Given the description of an element on the screen output the (x, y) to click on. 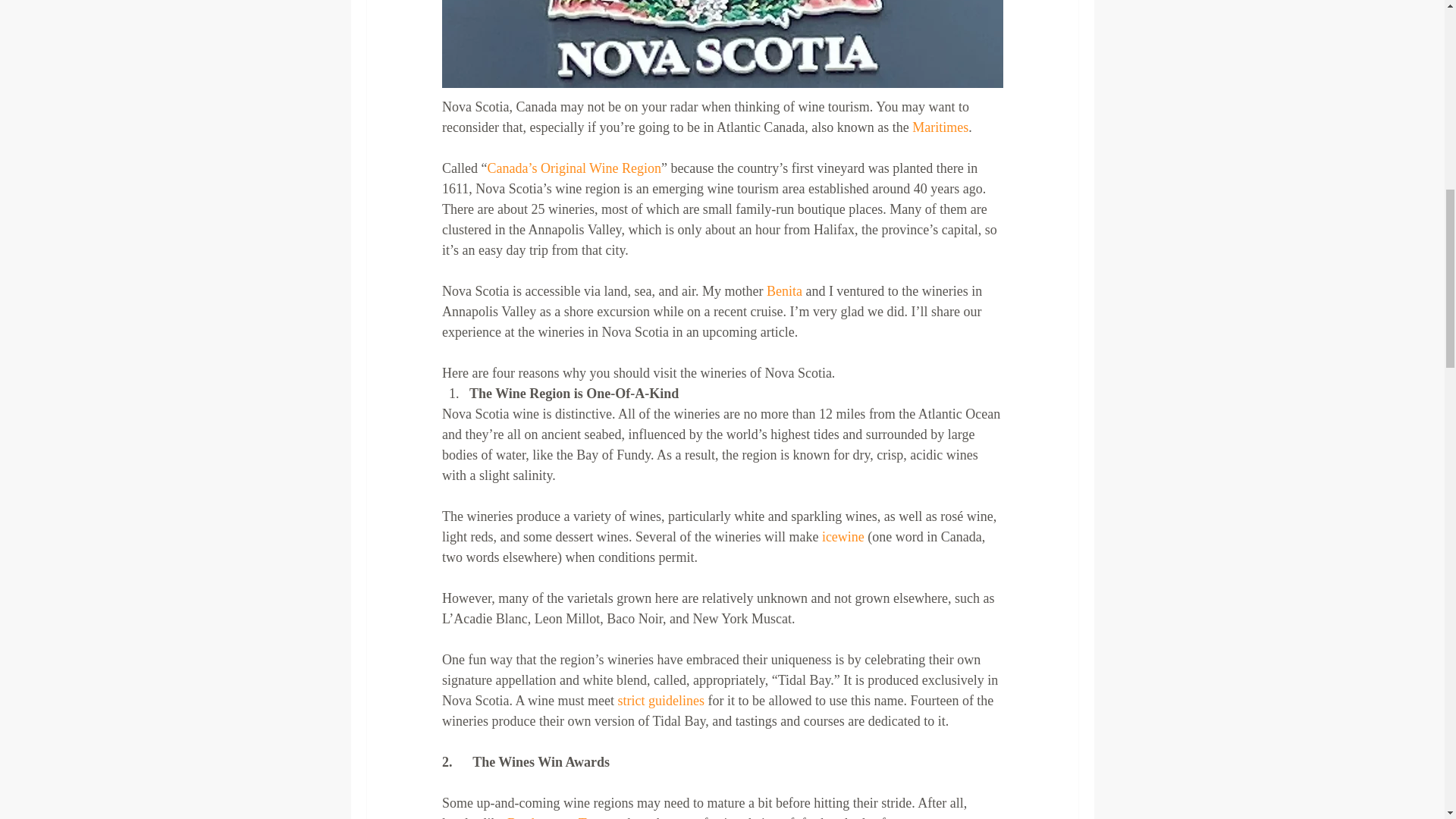
Tuscany (600, 817)
icewine  (843, 536)
Benita  (785, 290)
Maritimes (940, 127)
Bordeaux (532, 817)
strict guidelines (660, 700)
